Given the description of an element on the screen output the (x, y) to click on. 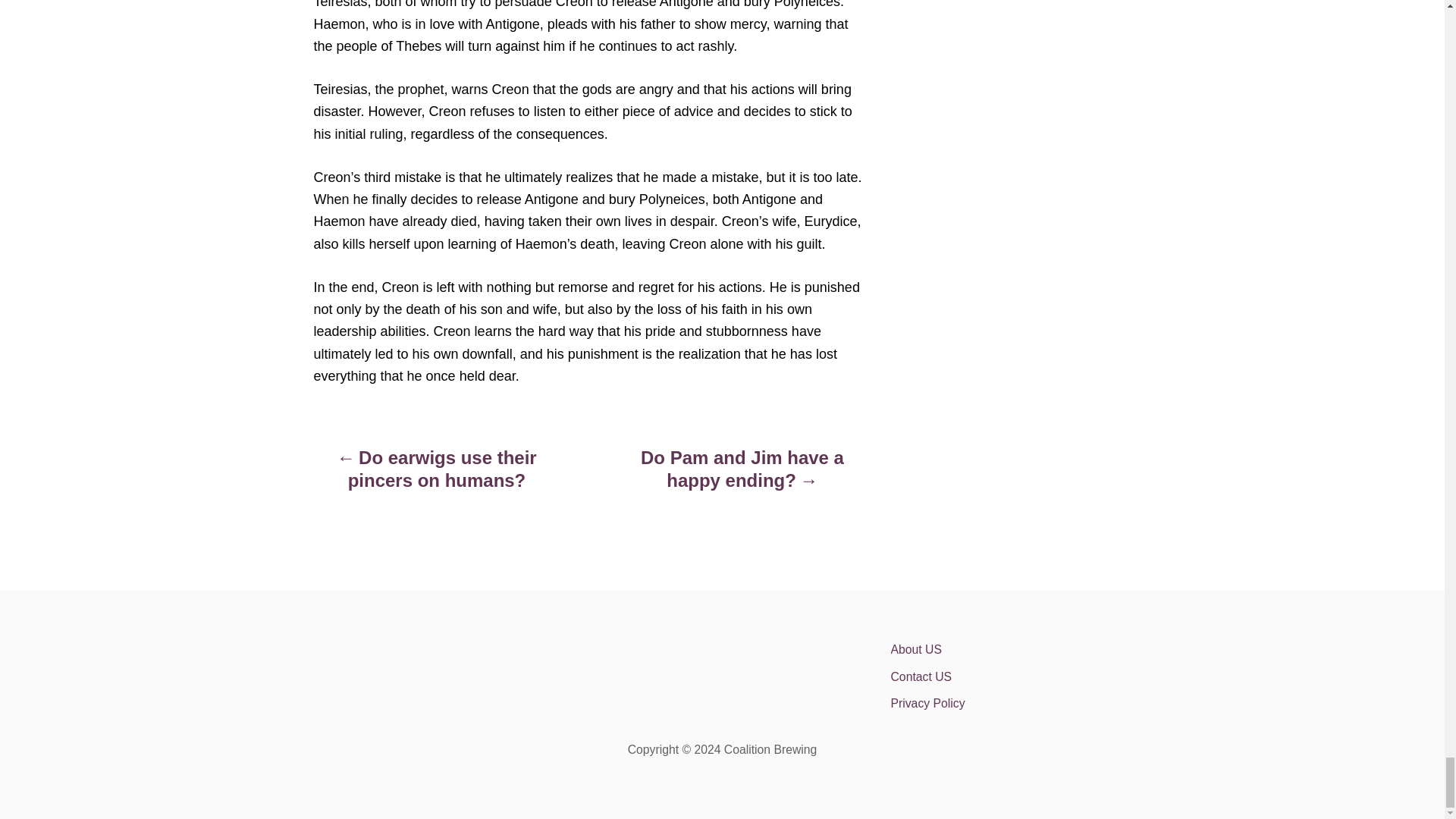
Do earwigs use their pincers on humans? (437, 476)
Do Pam and Jim have a happy ending? (741, 476)
About US (1021, 649)
Privacy Policy (1021, 703)
Contact US (1021, 677)
